Given the description of an element on the screen output the (x, y) to click on. 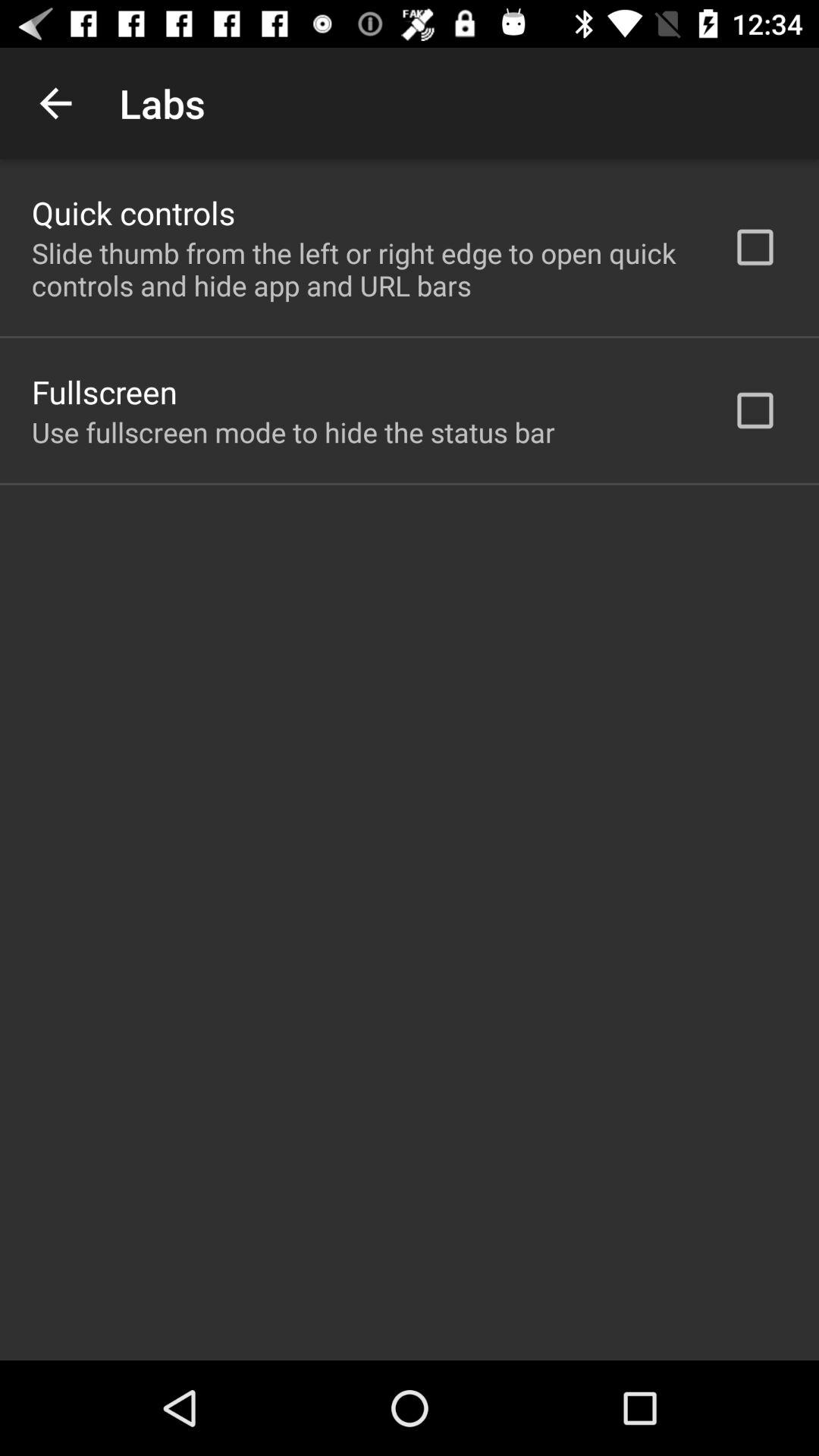
choose the slide thumb from (361, 269)
